Given the description of an element on the screen output the (x, y) to click on. 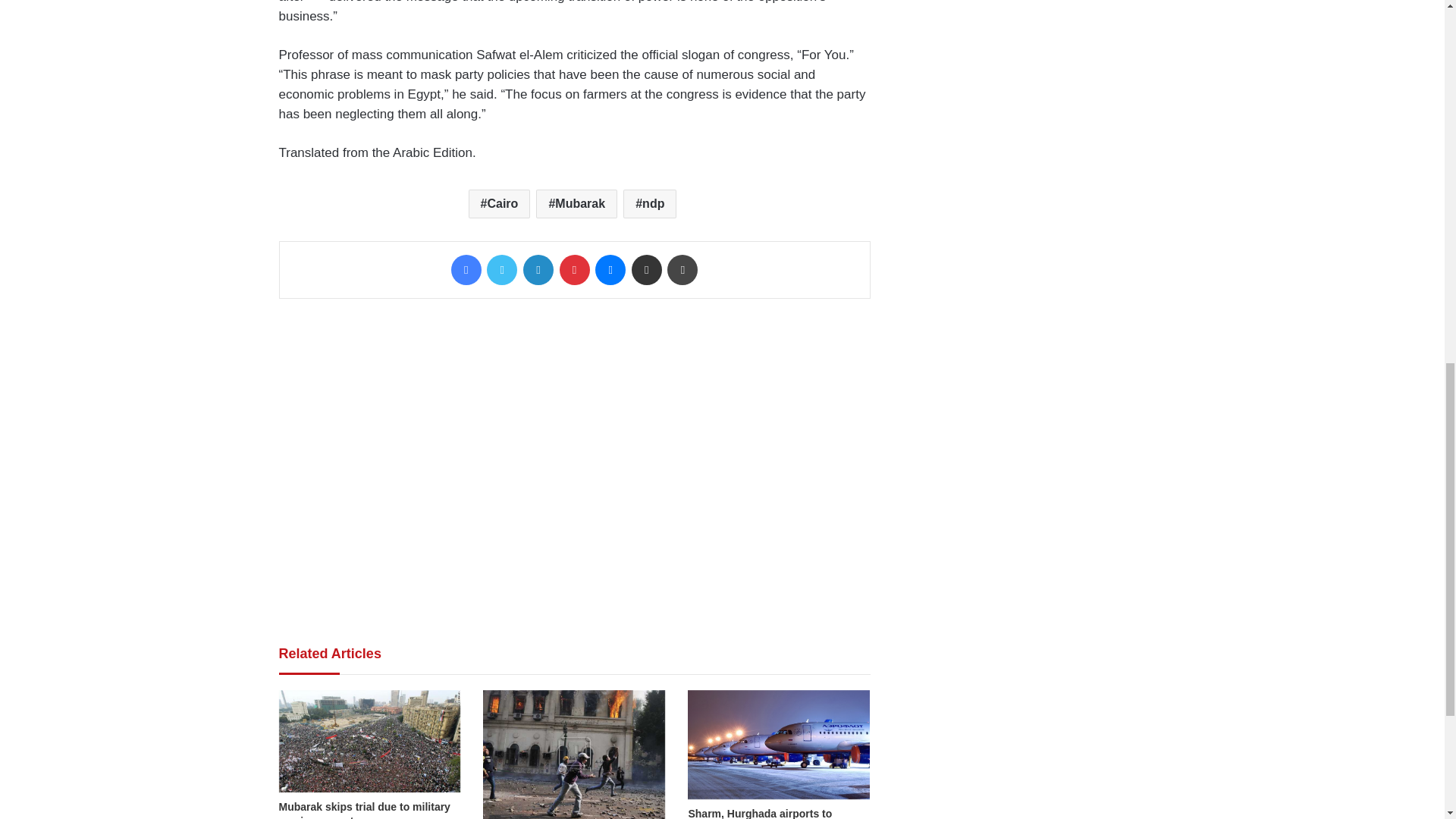
Pinterest (574, 269)
Messenger (610, 269)
Facebook (466, 269)
Share via Email (646, 269)
Messenger (610, 269)
Facebook (466, 269)
Mubarak (576, 203)
LinkedIn (537, 269)
LinkedIn (537, 269)
Twitter (501, 269)
ndp (650, 203)
Pinterest (574, 269)
Print (681, 269)
Twitter (501, 269)
Share via Email (646, 269)
